Given the description of an element on the screen output the (x, y) to click on. 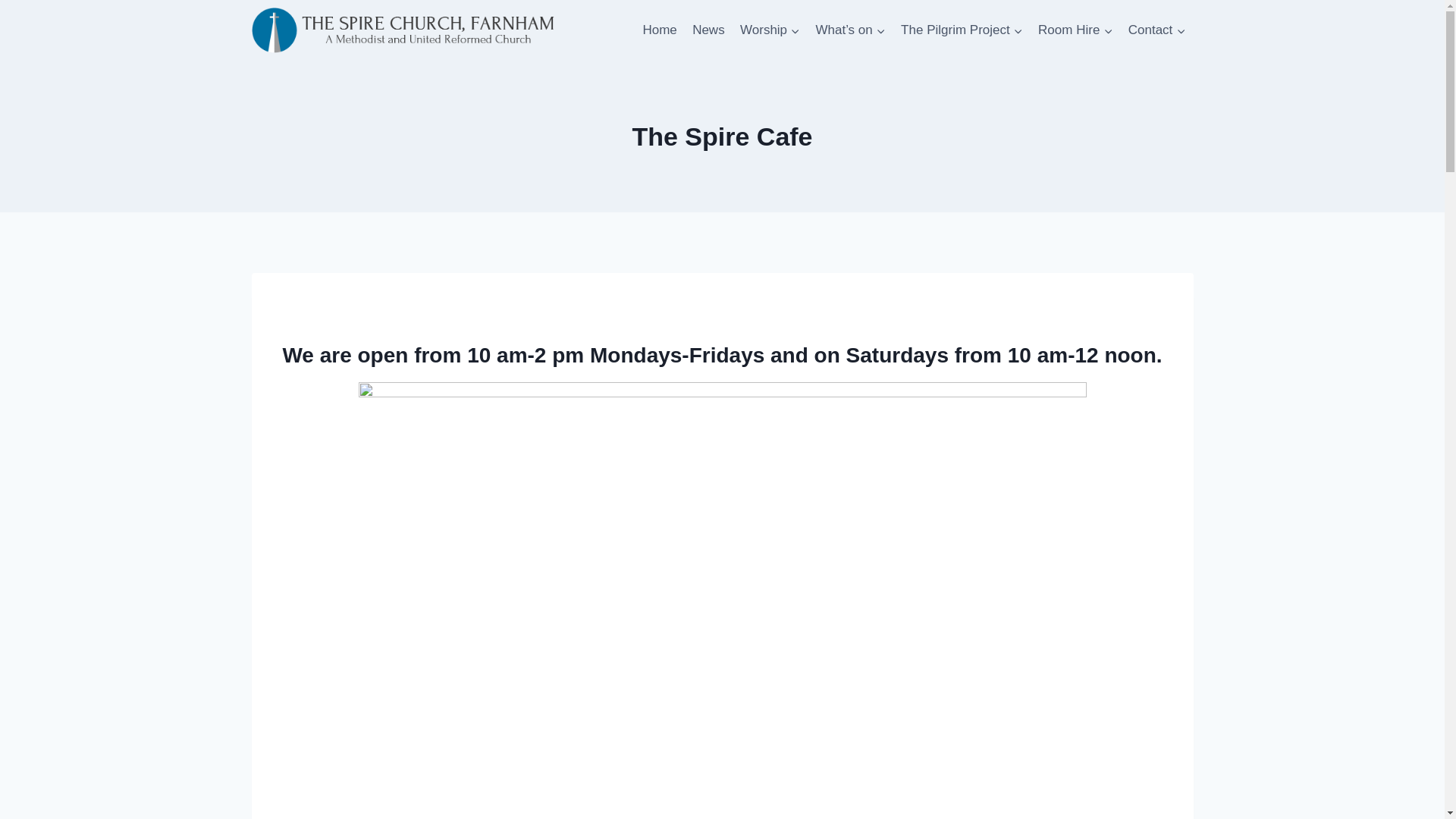
Contact (1157, 30)
The Pilgrim Project (961, 30)
Room Hire (1075, 30)
Worship (770, 30)
